Given the description of an element on the screen output the (x, y) to click on. 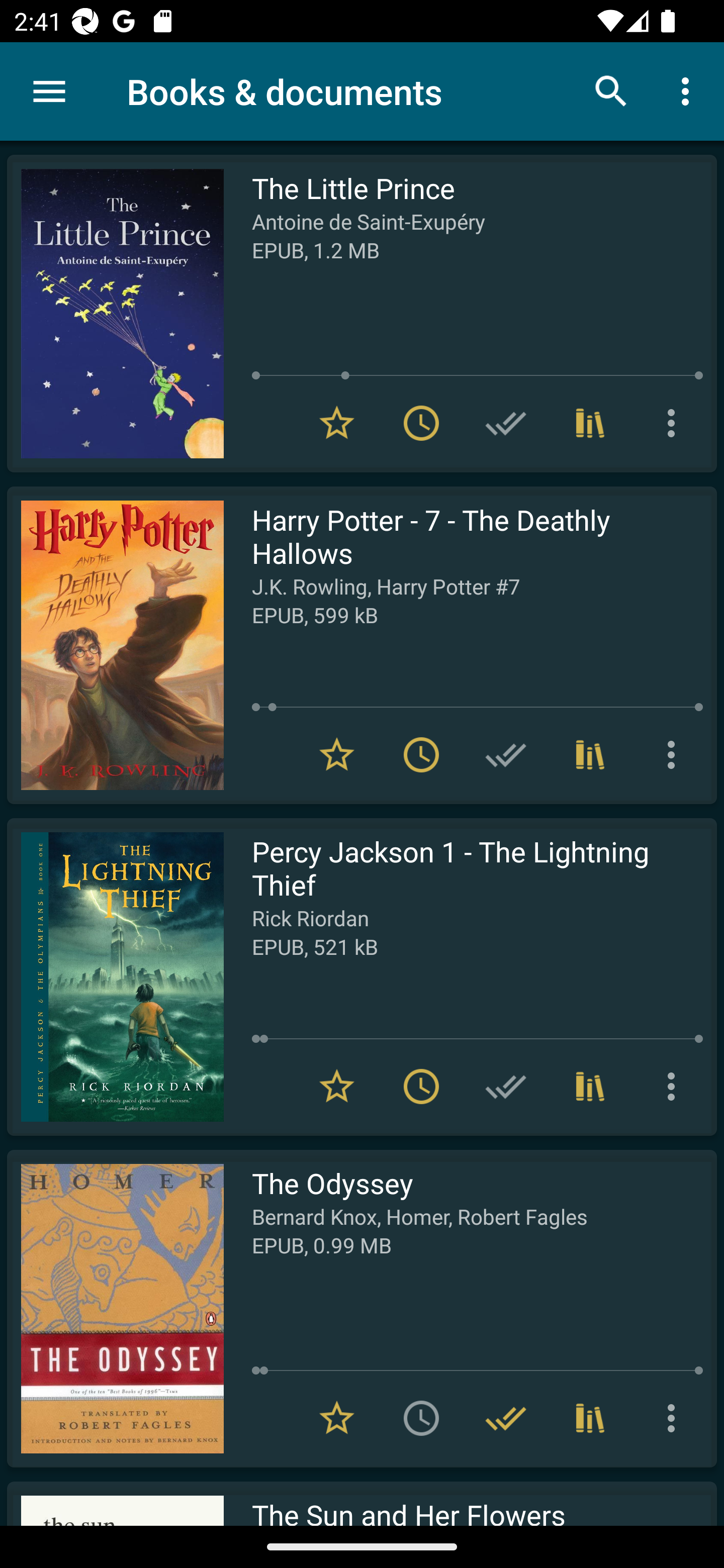
Menu (49, 91)
Search books & documents (611, 90)
More options (688, 90)
Read The Little Prince (115, 313)
Remove from Favorites (336, 423)
Remove from To read (421, 423)
Add to Have read (505, 423)
Collections (1) (590, 423)
More options (674, 423)
Read Harry Potter - 7 - The Deathly Hallows (115, 645)
Remove from Favorites (336, 753)
Remove from To read (421, 753)
Add to Have read (505, 753)
Collections (3) (590, 753)
More options (674, 753)
Read Percy Jackson 1 - The Lightning Thief (115, 976)
Remove from Favorites (336, 1086)
Remove from To read (421, 1086)
Add to Have read (505, 1086)
Collections (2) (590, 1086)
More options (674, 1086)
Read The Odyssey (115, 1308)
Remove from Favorites (336, 1417)
Add to To read (421, 1417)
Remove from Have read (505, 1417)
Collections (3) (590, 1417)
More options (674, 1417)
